Given the description of an element on the screen output the (x, y) to click on. 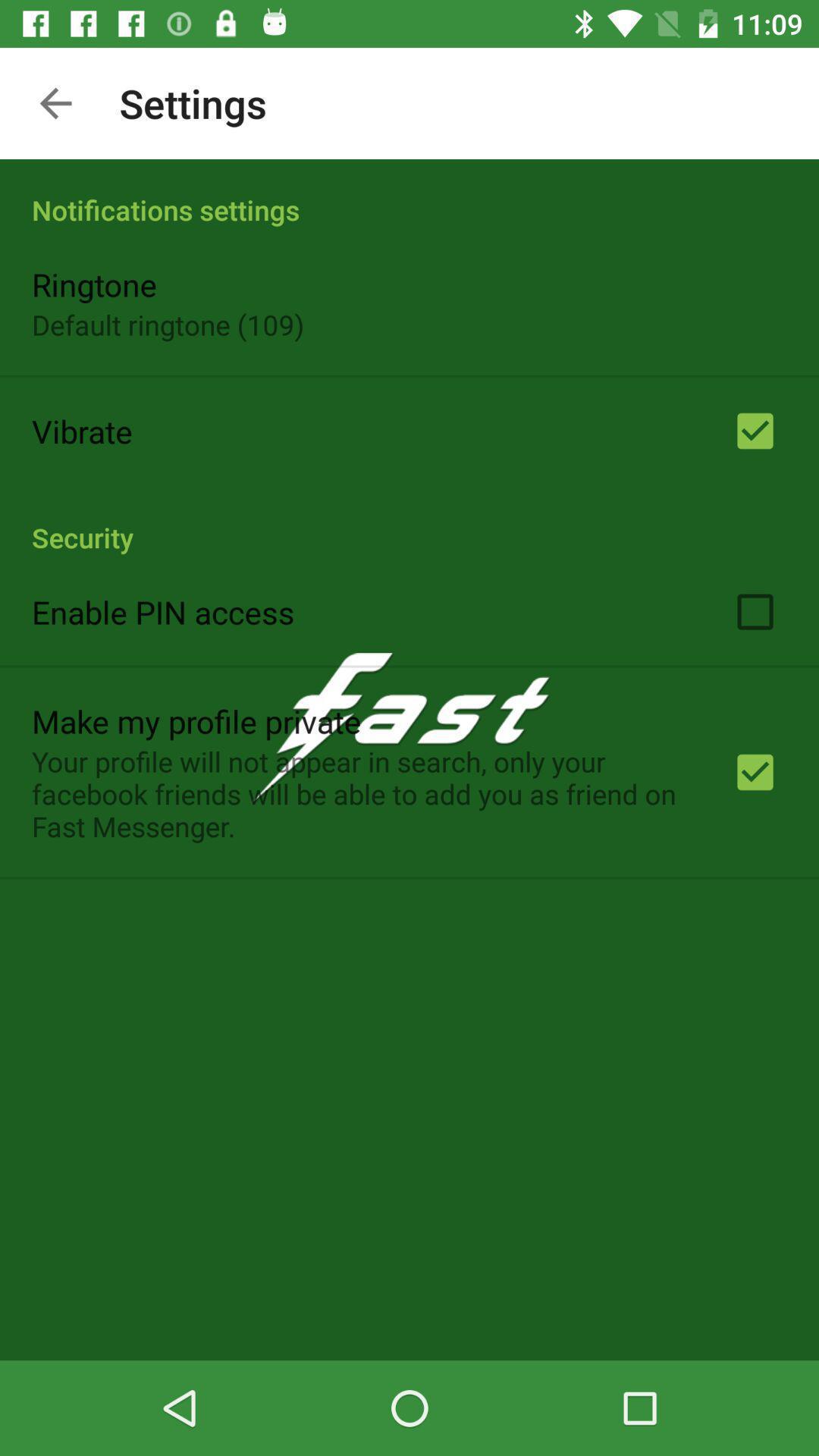
tap item below make my profile icon (361, 793)
